Given the description of an element on the screen output the (x, y) to click on. 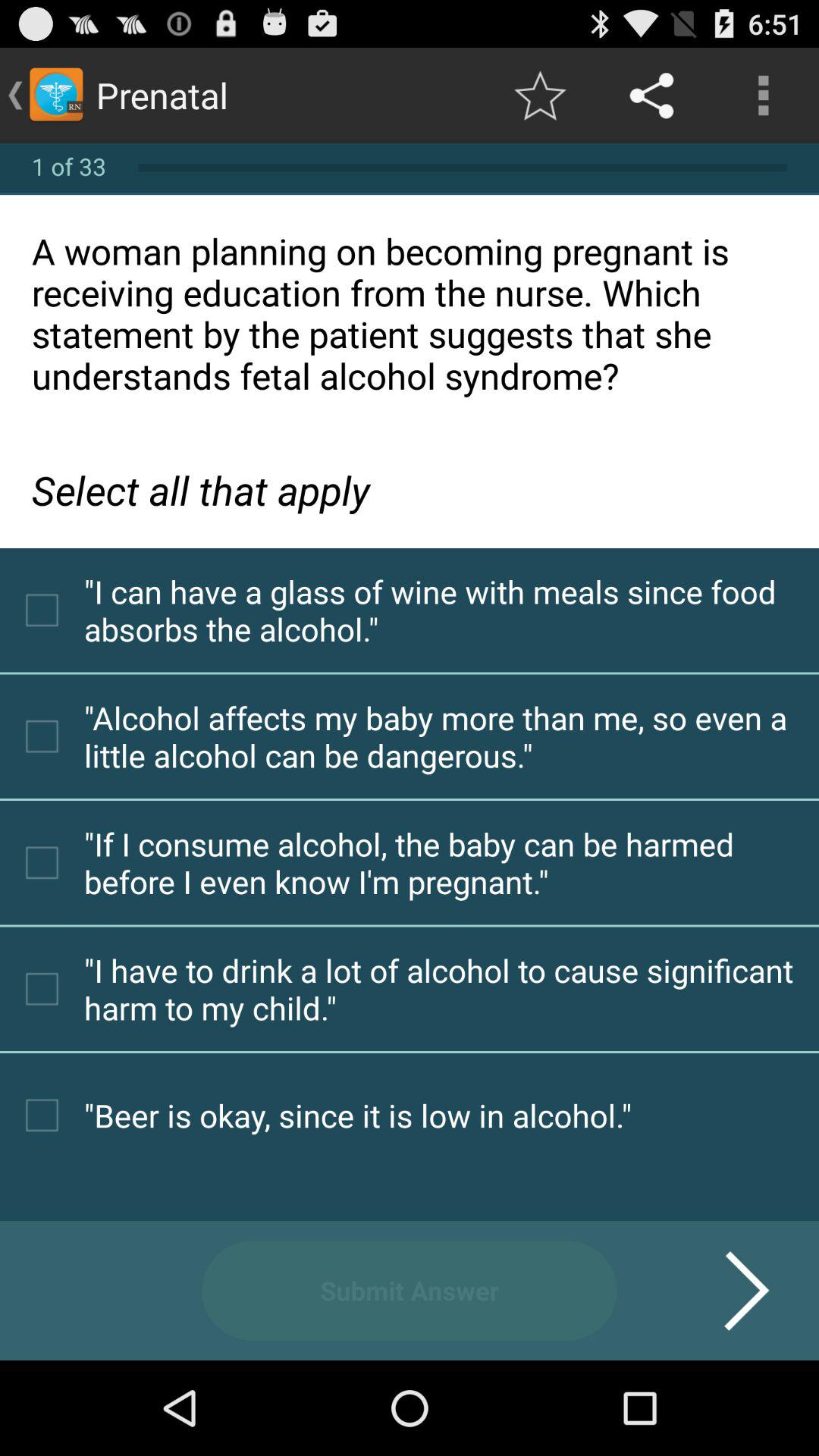
click icon below the beer is okay item (728, 1290)
